Given the description of an element on the screen output the (x, y) to click on. 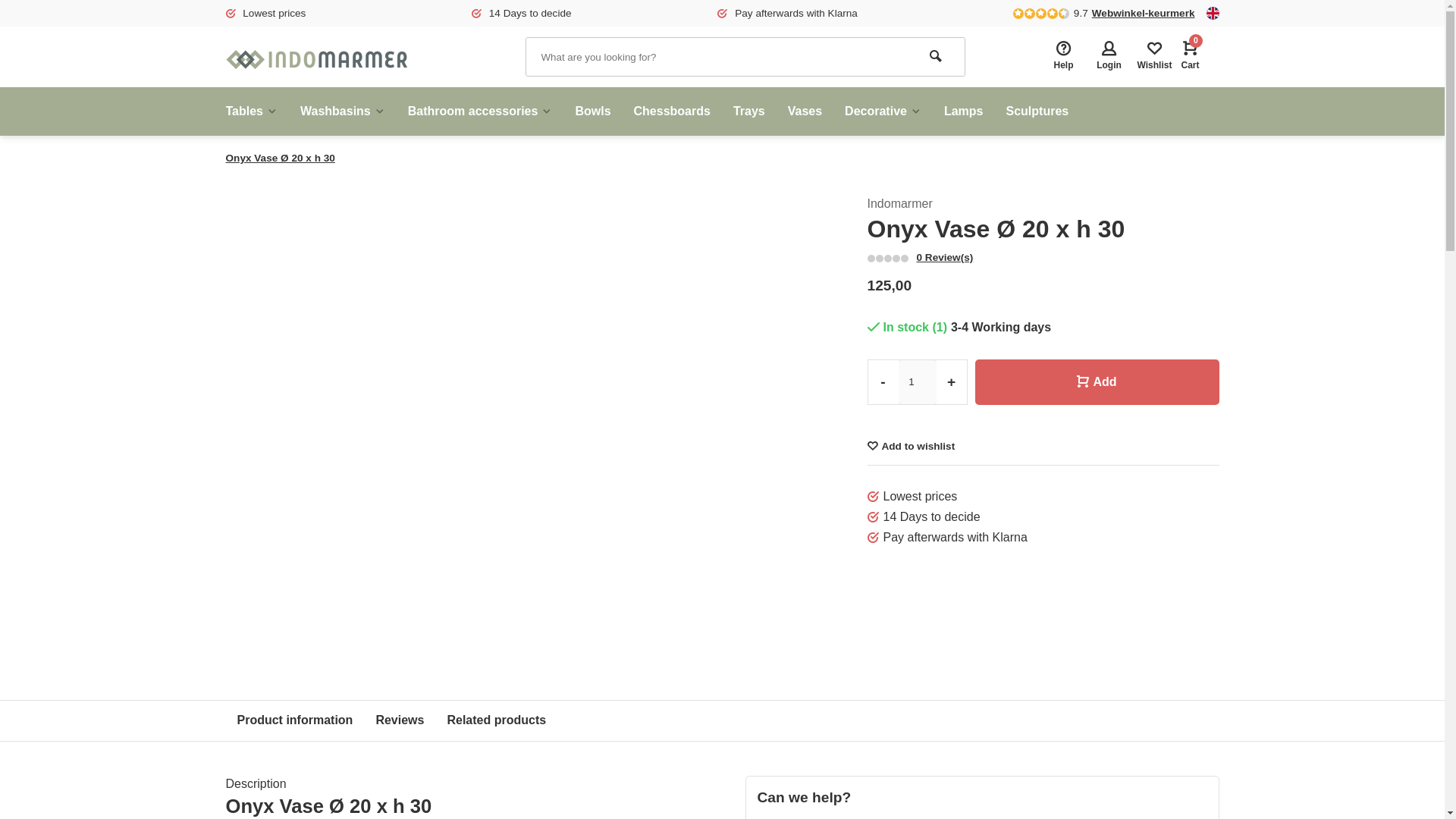
Tables (257, 110)
IndoMarmer (316, 56)
Login (1109, 56)
Bathroom accessories (480, 110)
Washbasins (342, 110)
Webwinkel-keurmerk (1143, 12)
Tables (257, 110)
Wishlist (1154, 56)
Help (1064, 56)
Washbasins (342, 110)
